Given the description of an element on the screen output the (x, y) to click on. 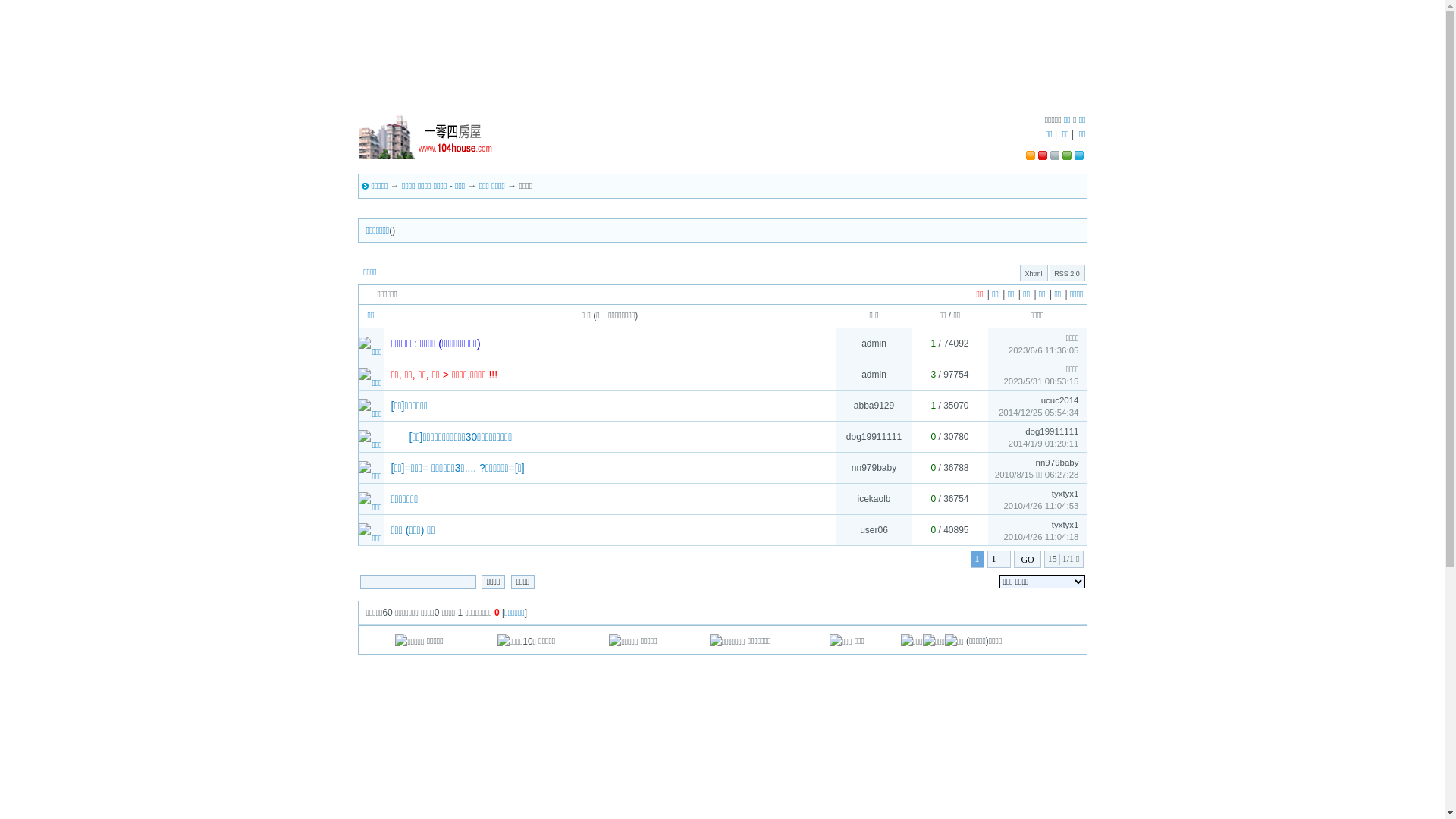
GO Element type: text (1027, 559)
2010/4/26 11:04:53 Element type: text (1040, 505)
2023/5/31 08:53:15 Element type: text (1040, 380)
abba9129 Element type: text (873, 405)
tyxtyx1 Element type: text (1065, 524)
2014/1/9 01:20:11 Element type: text (1043, 443)
admin Element type: text (873, 374)
nn979baby Element type: text (873, 467)
ucuc2014 Element type: text (1060, 399)
2023/6/6 11:36:05 Element type: text (1043, 349)
icekaolb Element type: text (873, 498)
tyxtyx1 Element type: text (1065, 493)
nn979baby Element type: text (1057, 462)
2010/4/26 11:04:18 Element type: text (1040, 536)
admin Element type: text (873, 343)
user06 Element type: text (873, 529)
dog19911111 Element type: text (873, 436)
2014/12/25 05:54:34 Element type: text (1038, 412)
dog19911111 Element type: text (1051, 431)
RSS 2.0 Element type: text (1066, 273)
Xhtml Element type: text (1032, 273)
Advertisement Element type: hover (721, 64)
